Given the description of an element on the screen output the (x, y) to click on. 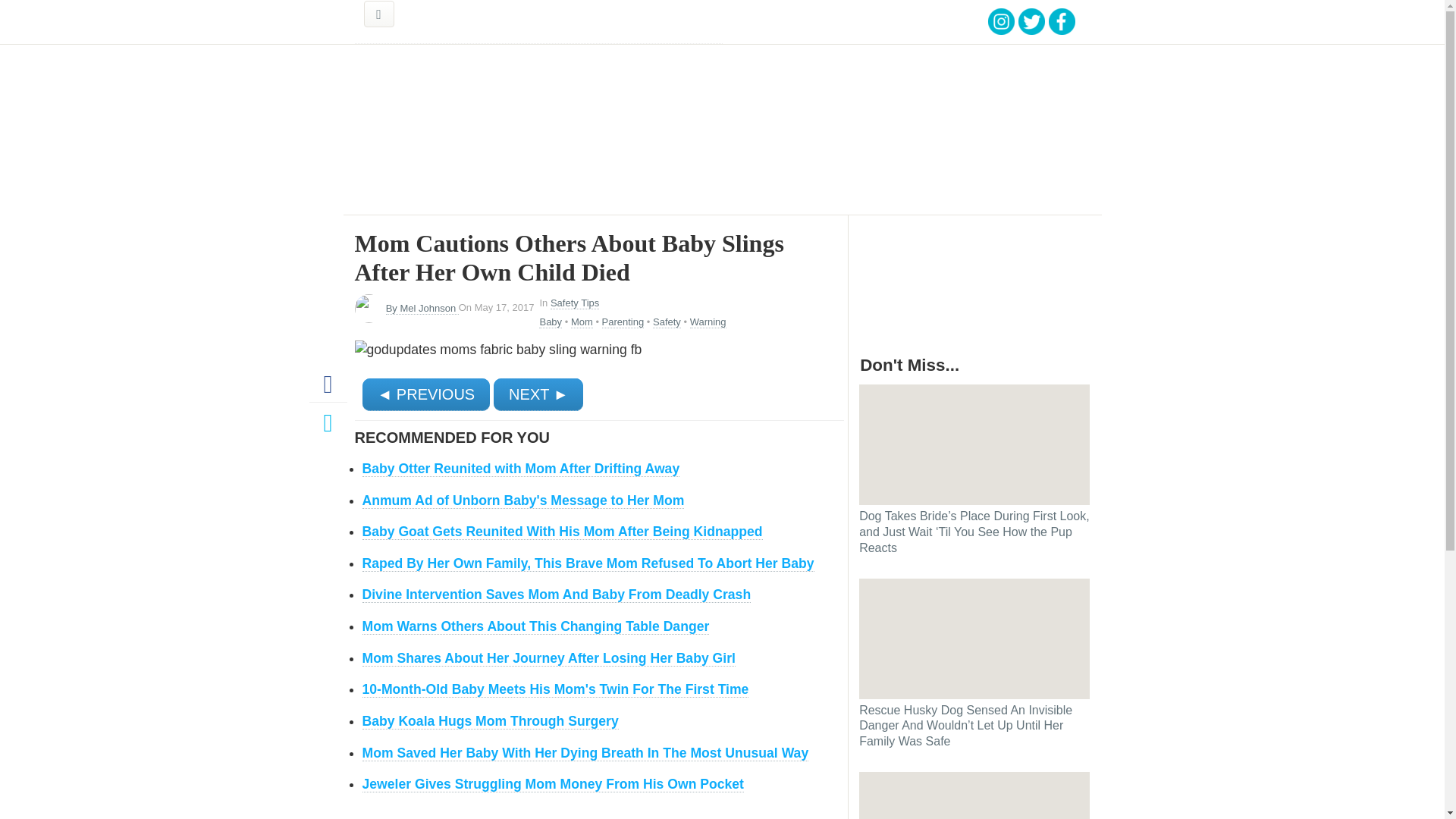
By Mel Johnson (421, 308)
GodUpdates (472, 21)
